Given the description of an element on the screen output the (x, y) to click on. 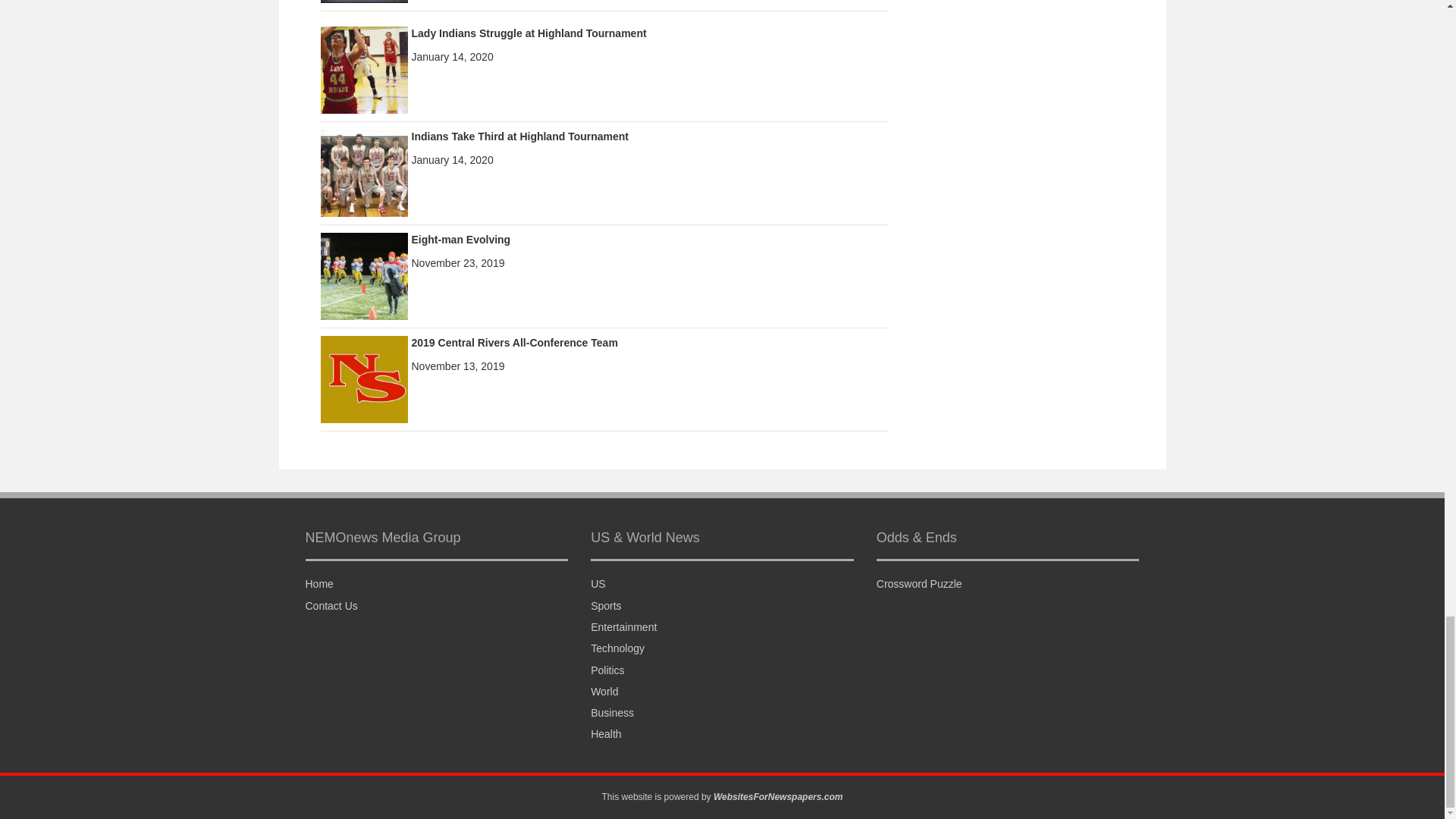
Eight-man Evolving (363, 275)
Lady Indians Struggle at Highland Tournament (528, 33)
2019 Central Rivers All-Conference Team (363, 378)
Lady Indians Struggle at Highland Tournament (363, 69)
Indians Take Third at Highland Tournament (363, 172)
Lady Indians Struggle at Highland Tournament (528, 33)
Indians Take Third at Highland Tournament (519, 136)
2019 Central Rivers All-Conference Team (513, 342)
Eight-man Evolving (460, 239)
